Given the description of an element on the screen output the (x, y) to click on. 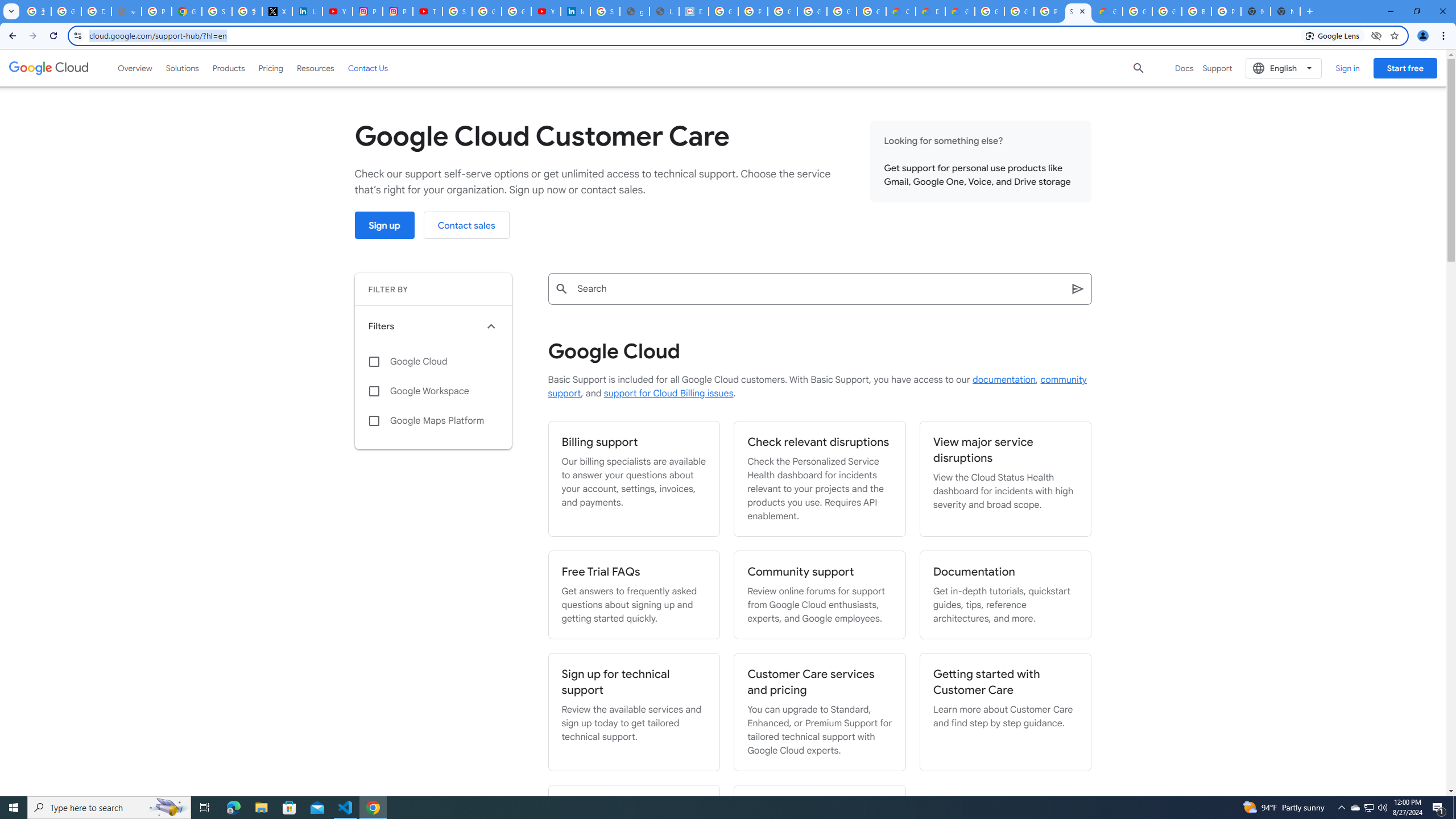
Customer Care | Google Cloud (900, 11)
documentation (1004, 379)
Resources (314, 67)
Solutions (181, 67)
Support (1216, 67)
Sign in - Google Accounts (604, 11)
